Given the description of an element on the screen output the (x, y) to click on. 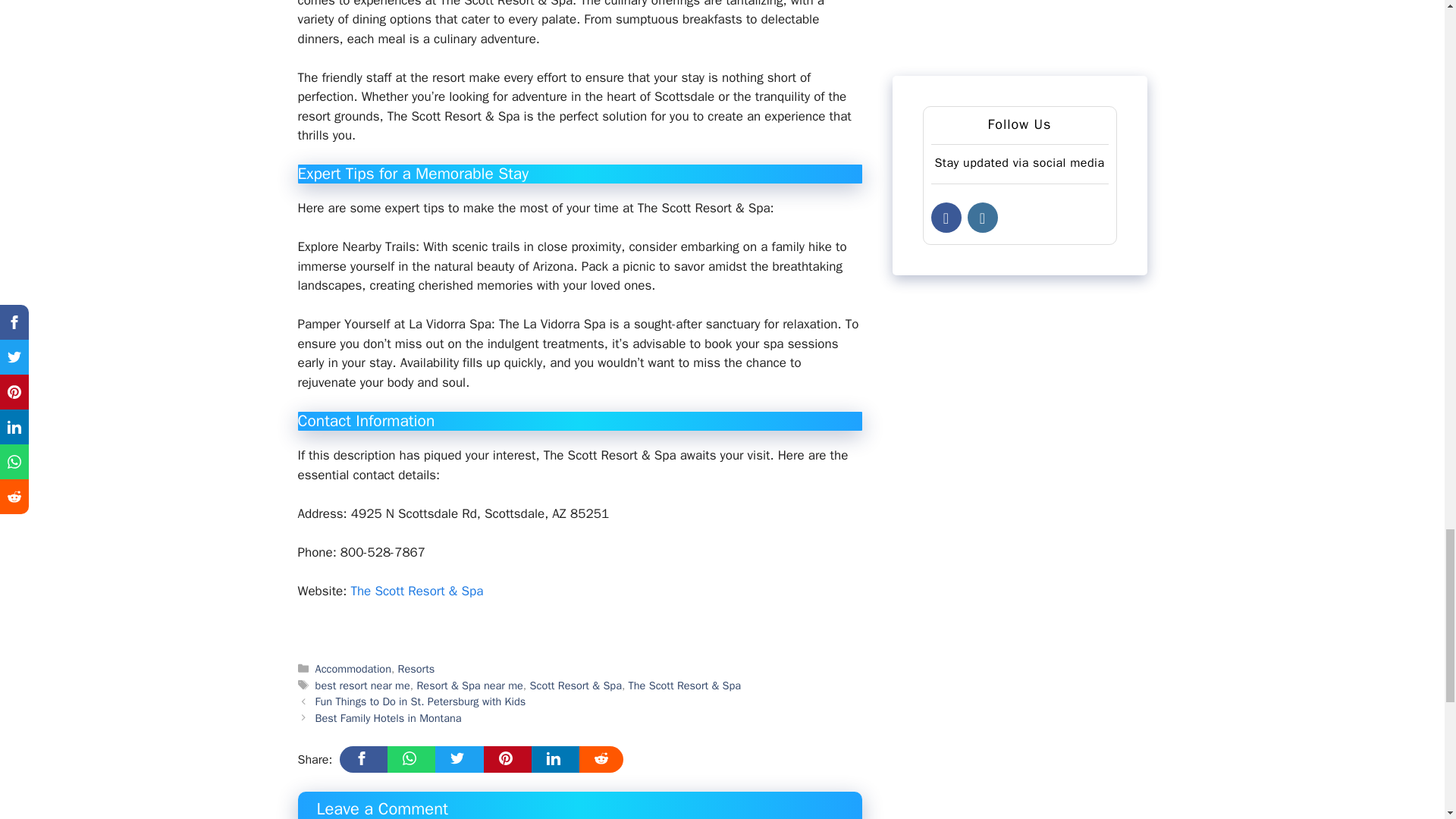
best resort near me (362, 685)
Resorts (416, 668)
Accommodation (353, 668)
